Given the description of an element on the screen output the (x, y) to click on. 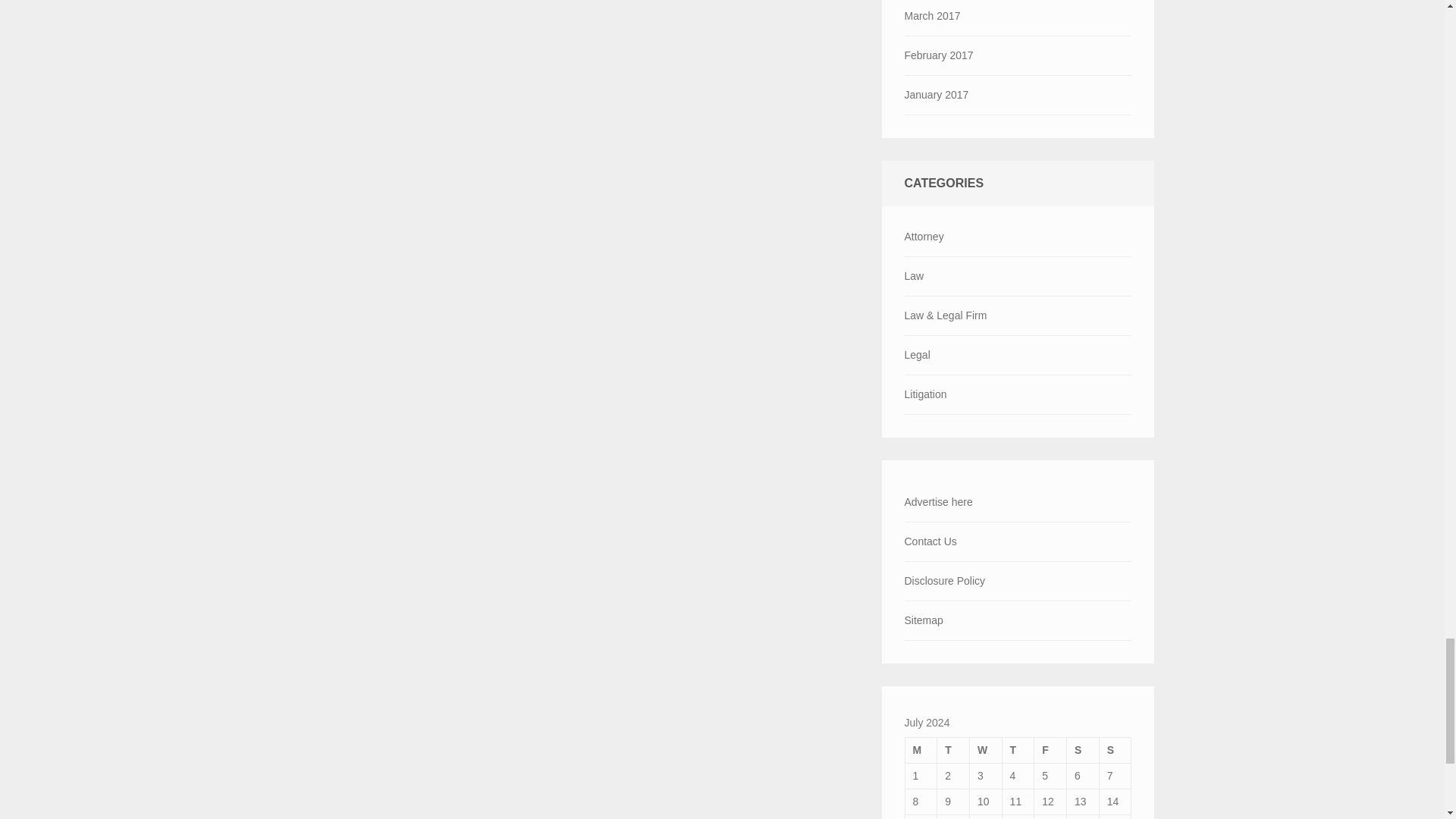
Saturday (1083, 749)
Friday (1050, 749)
Wednesday (985, 749)
Thursday (1017, 749)
Tuesday (953, 749)
Sunday (1115, 749)
Monday (920, 749)
